Given the description of an element on the screen output the (x, y) to click on. 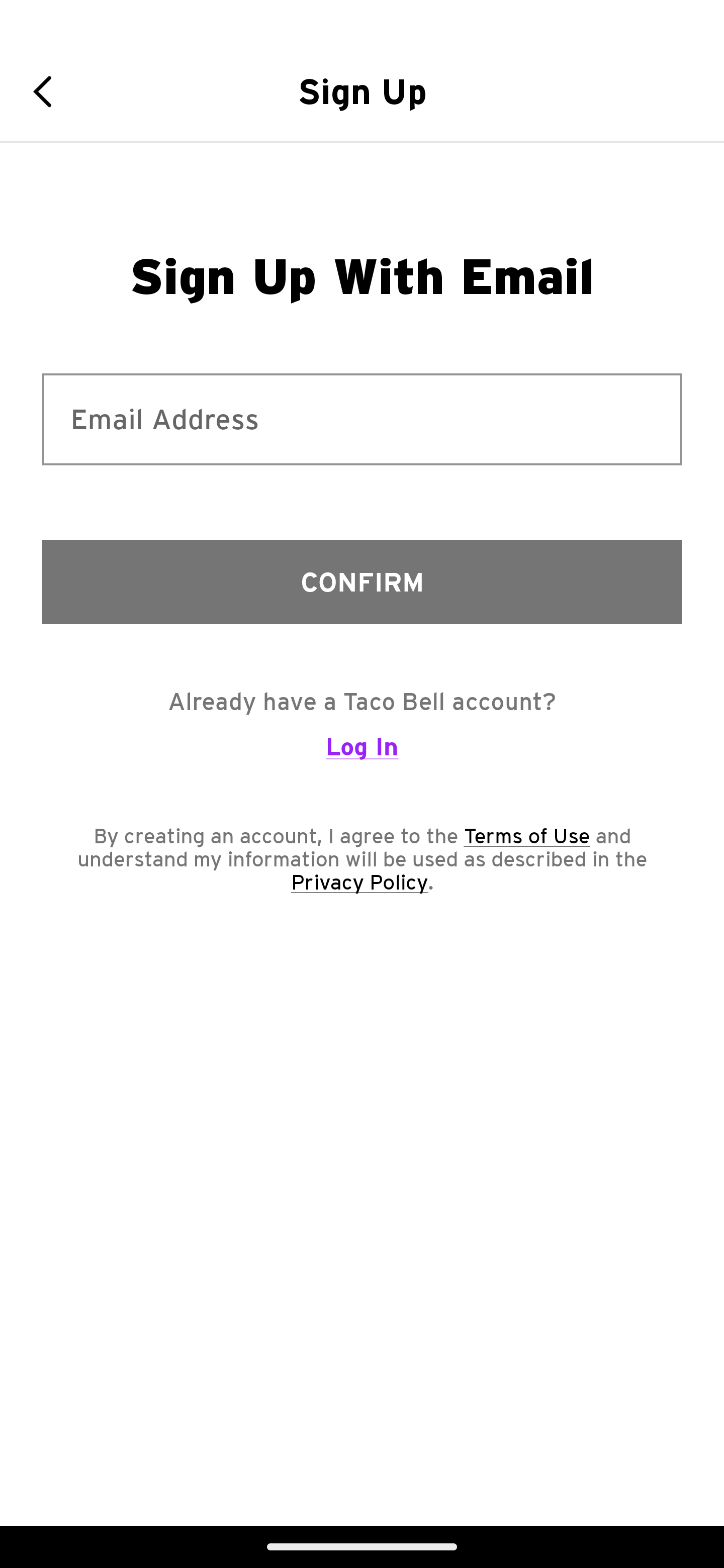
Navigate up (49, 91)
Email Address (361, 419)
CONFIRM (361, 581)
Log In (361, 754)
